Given the description of an element on the screen output the (x, y) to click on. 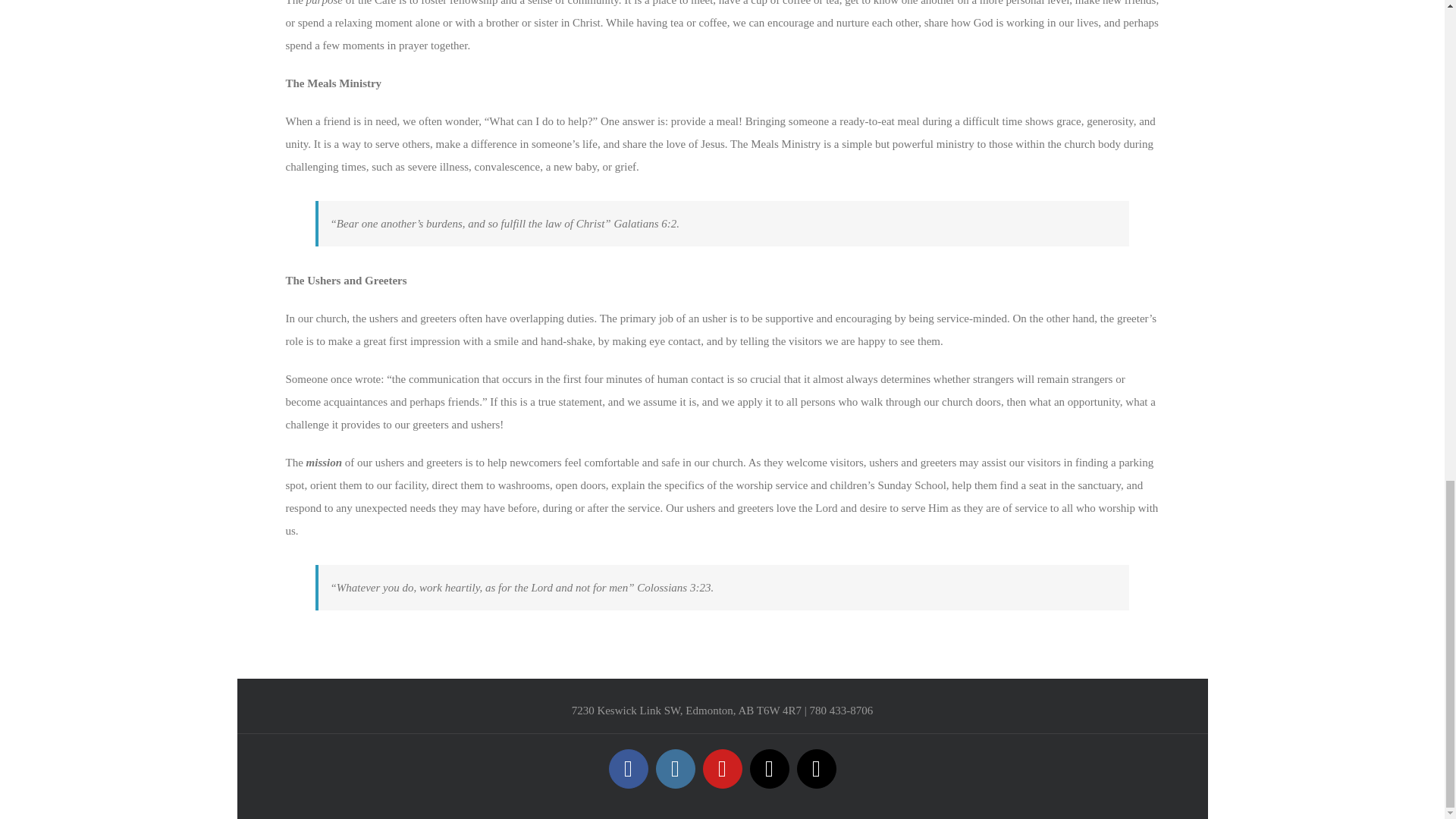
YouTube (721, 768)
Email (769, 768)
Instagram (674, 768)
Facebook (627, 768)
Phone (815, 768)
